Given the description of an element on the screen output the (x, y) to click on. 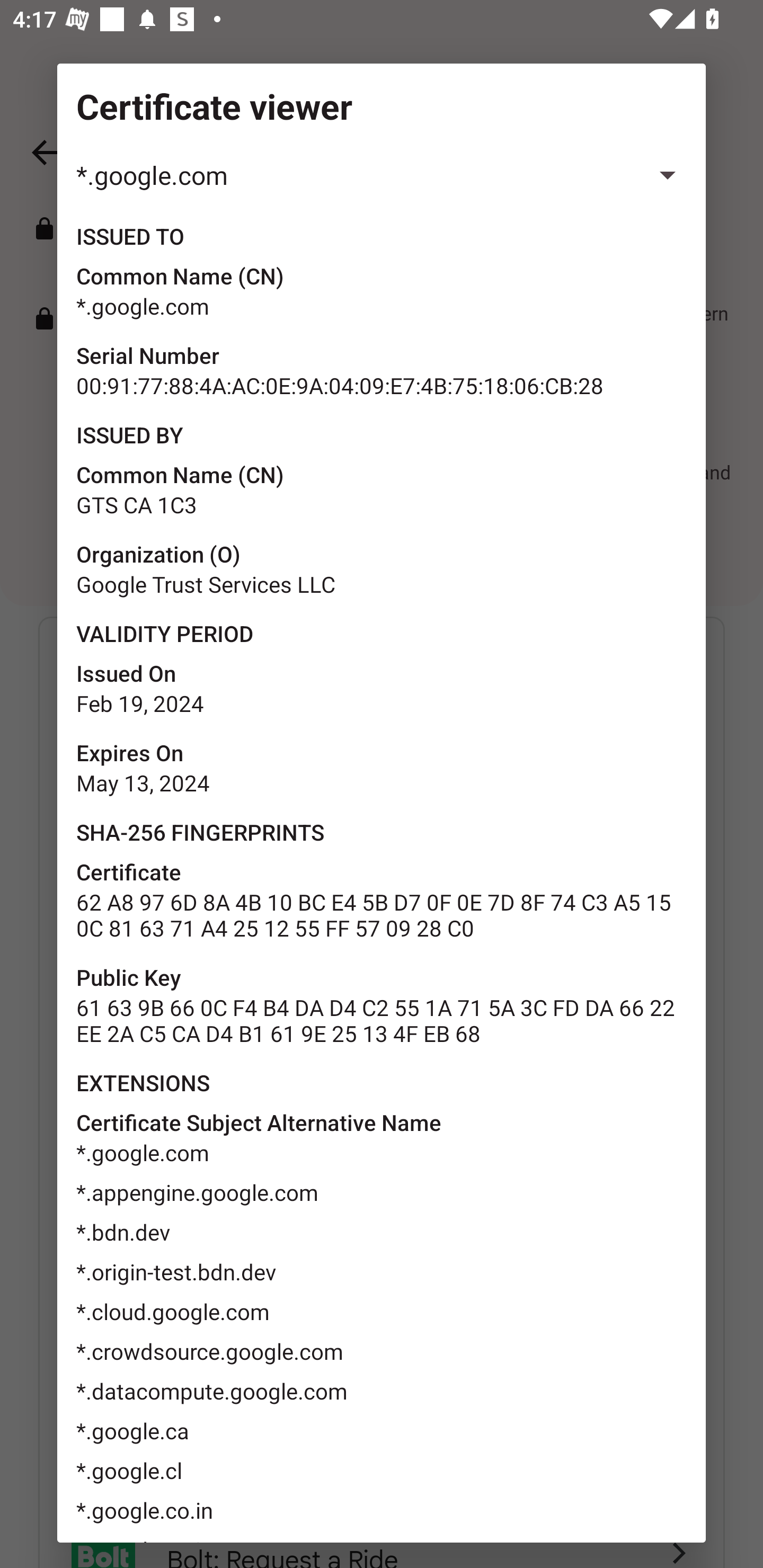
*.google.com (381, 175)
